Given the description of an element on the screen output the (x, y) to click on. 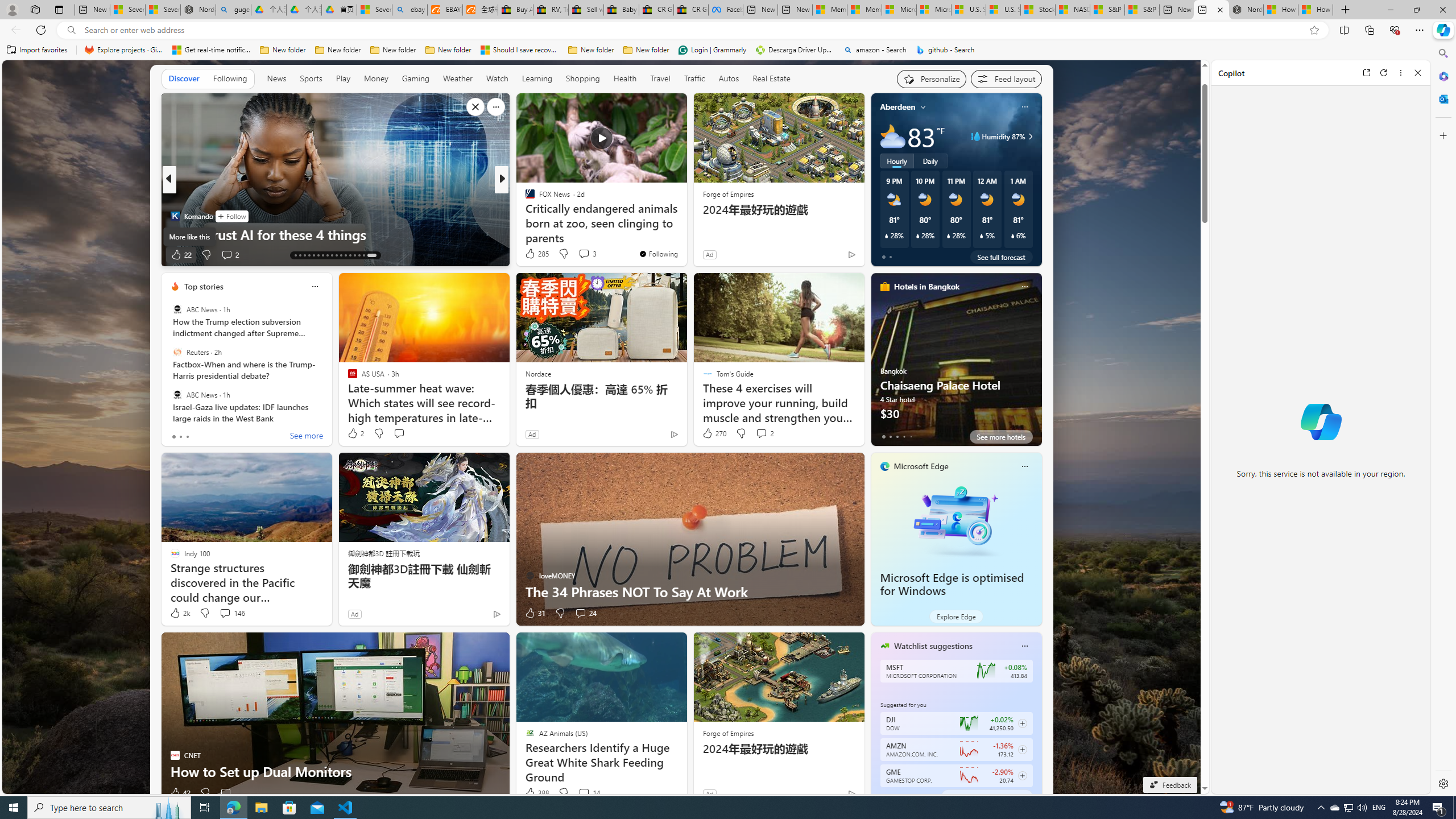
amazon - Search (875, 49)
Play (342, 79)
Travel (660, 78)
AutomationID: tab-18 (317, 255)
Settings (1442, 783)
Watchlist suggestions (932, 646)
AutomationID: tab-41 (363, 255)
Descarga Driver Updater (794, 49)
Microsoft Edge is optimised for Windows (952, 584)
Forge of Empires (727, 732)
Money (375, 79)
Top stories (203, 286)
